Given the description of an element on the screen output the (x, y) to click on. 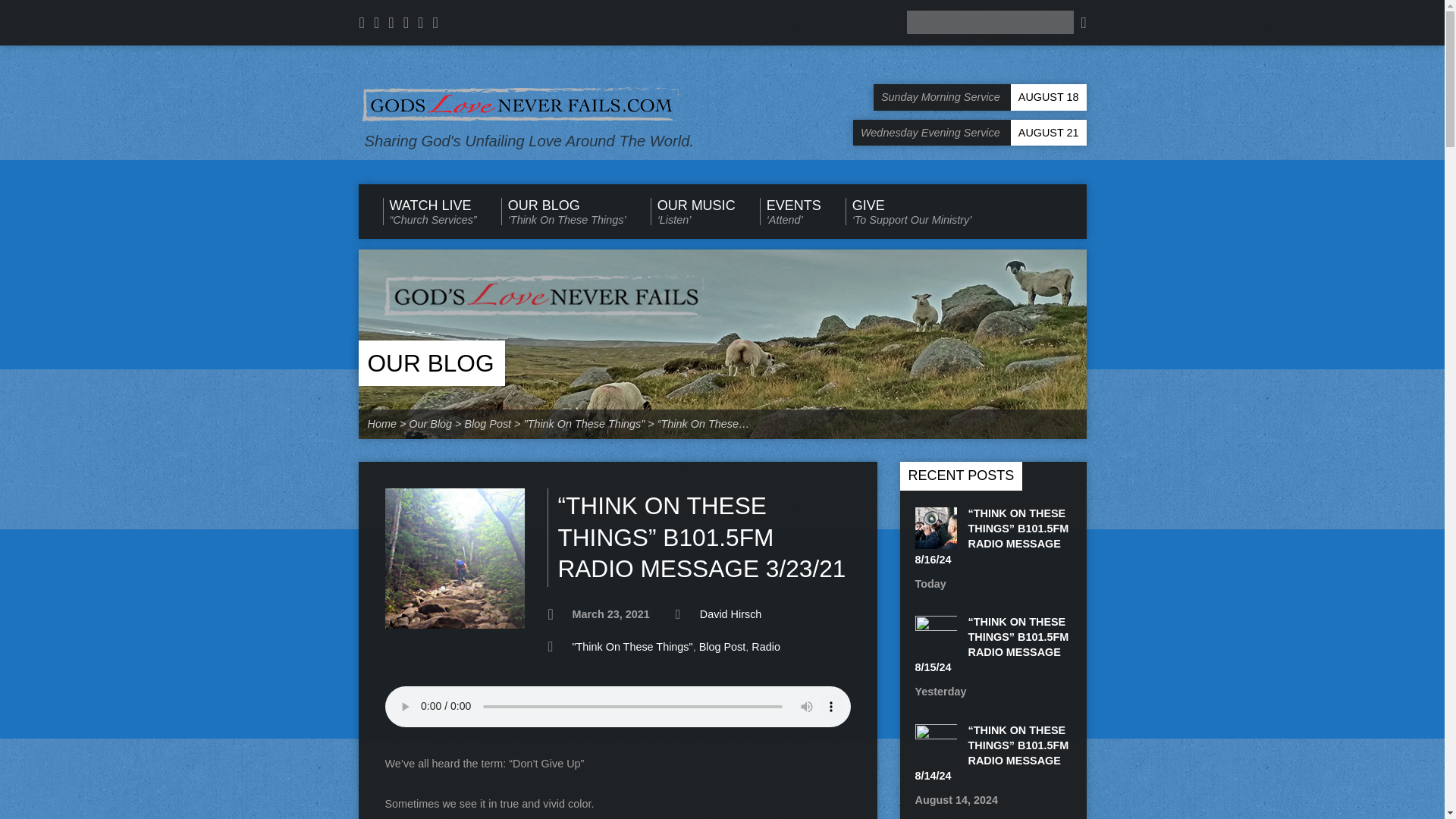
Our Blog (429, 362)
Blog Post (721, 646)
Wednesday Evening Service AUGUST 21 (969, 132)
Wednesday Evening Service (969, 132)
Radio (765, 646)
Blog Post (487, 423)
David Hirsch (730, 613)
Sunday Morning Service AUGUST 18 (979, 97)
"Think On These Things" (632, 646)
Sunday Morning Service (979, 97)
